Given the description of an element on the screen output the (x, y) to click on. 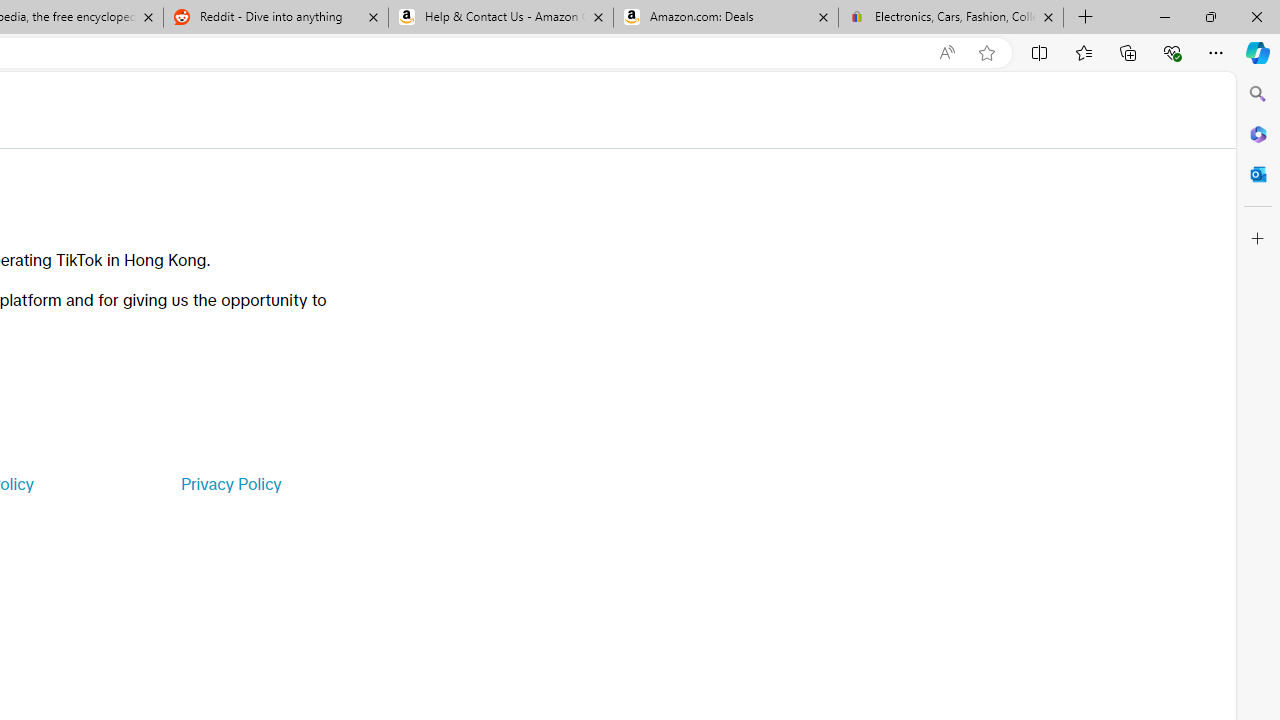
Reddit - Dive into anything (275, 17)
Privacy Policy (230, 484)
Help & Contact Us - Amazon Customer Service (501, 17)
Electronics, Cars, Fashion, Collectibles & More | eBay (950, 17)
